Given the description of an element on the screen output the (x, y) to click on. 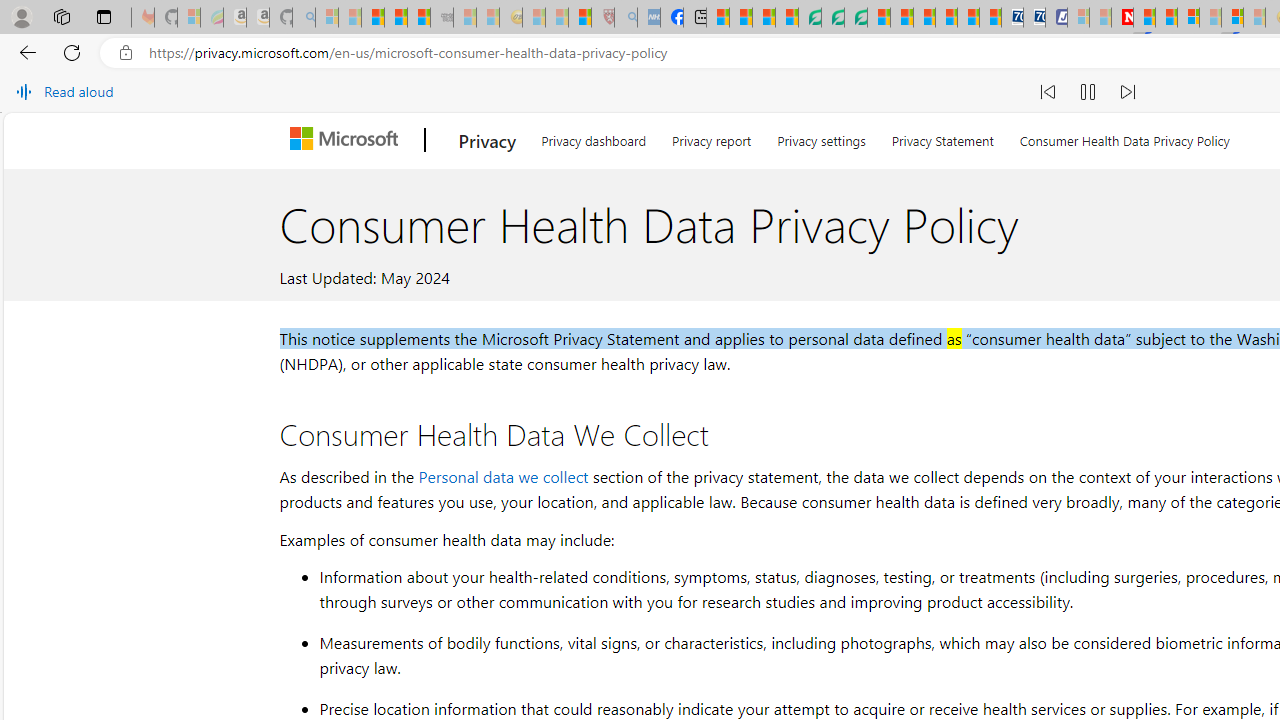
Privacy report (712, 137)
Privacy dashboard (593, 137)
